Given the description of an element on the screen output the (x, y) to click on. 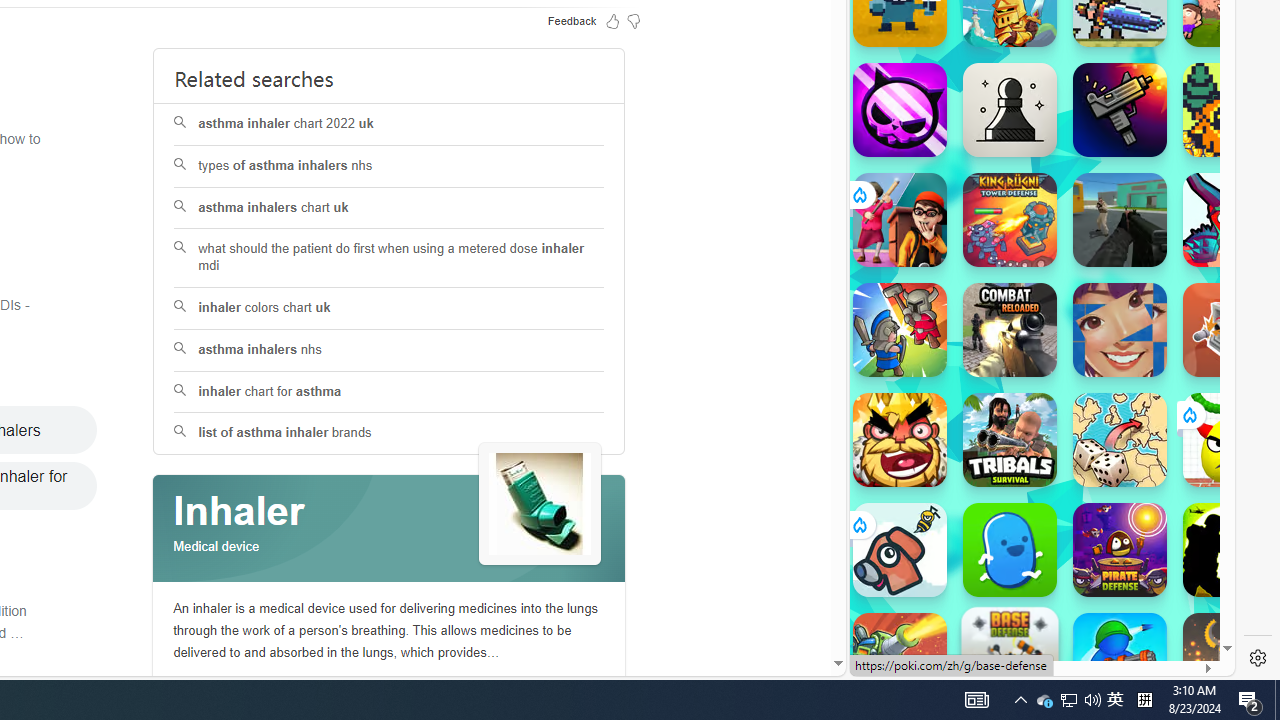
inhaler chart for asthma (388, 391)
Base Defense (1009, 655)
Classic Chess (1009, 109)
Goober World Goober World (1009, 549)
Combat Online (1119, 219)
asthma inhalers nhs (388, 349)
asthma inhalers chart uk (388, 207)
Goober World (1009, 549)
World Conquest (1119, 439)
Hills of Steel (943, 300)
Combat Reloaded (1009, 329)
Tower Defense Mingling Tower Defense Mingling (1229, 329)
Day of Meat: Radiation (1119, 109)
asthma inhalers chart uk (389, 208)
SUBWAY SURFERS - Play Online for Free! | Poki (1034, 624)
